Given the description of an element on the screen output the (x, y) to click on. 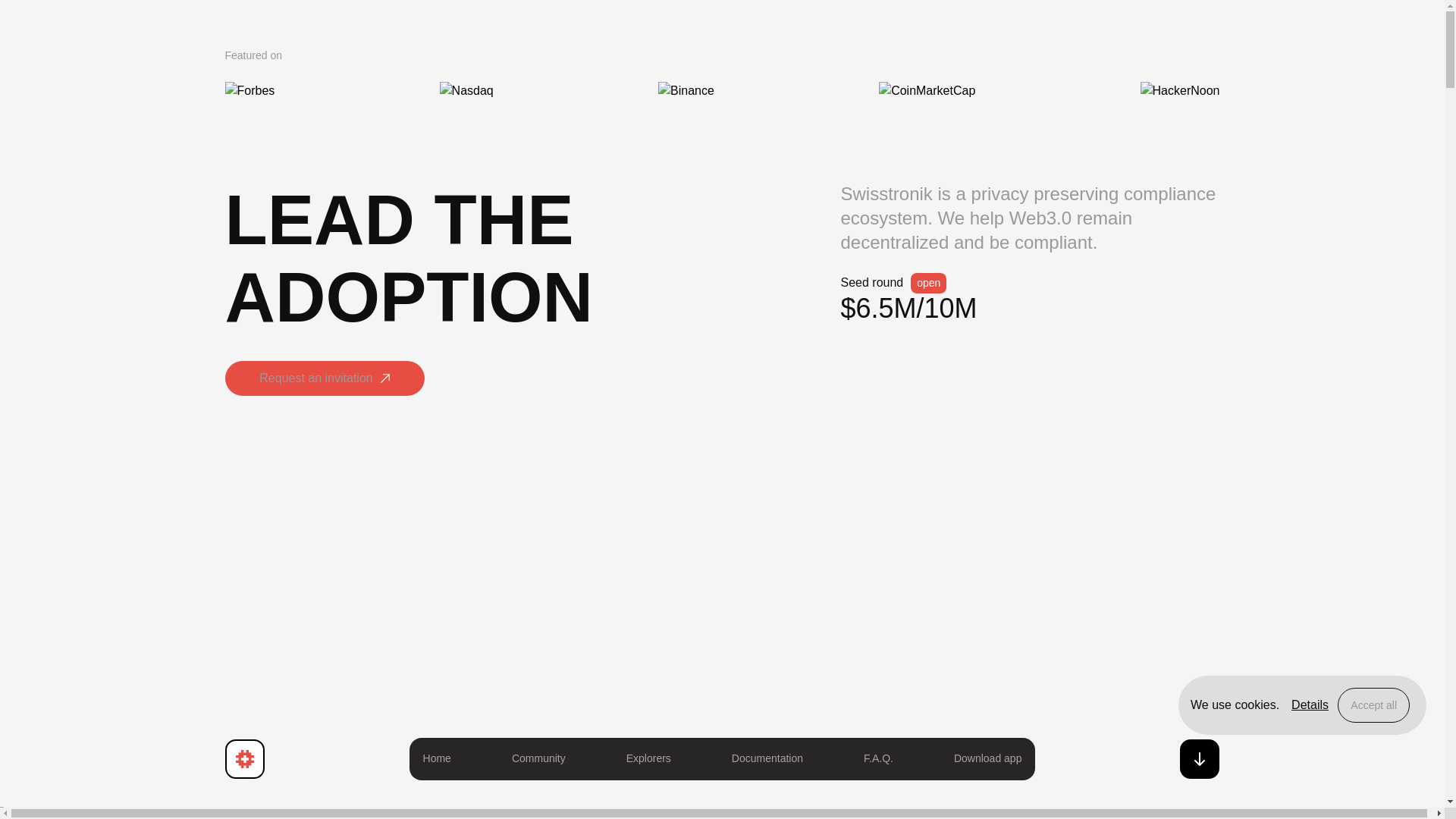
Request an invitation (323, 395)
